Given the description of an element on the screen output the (x, y) to click on. 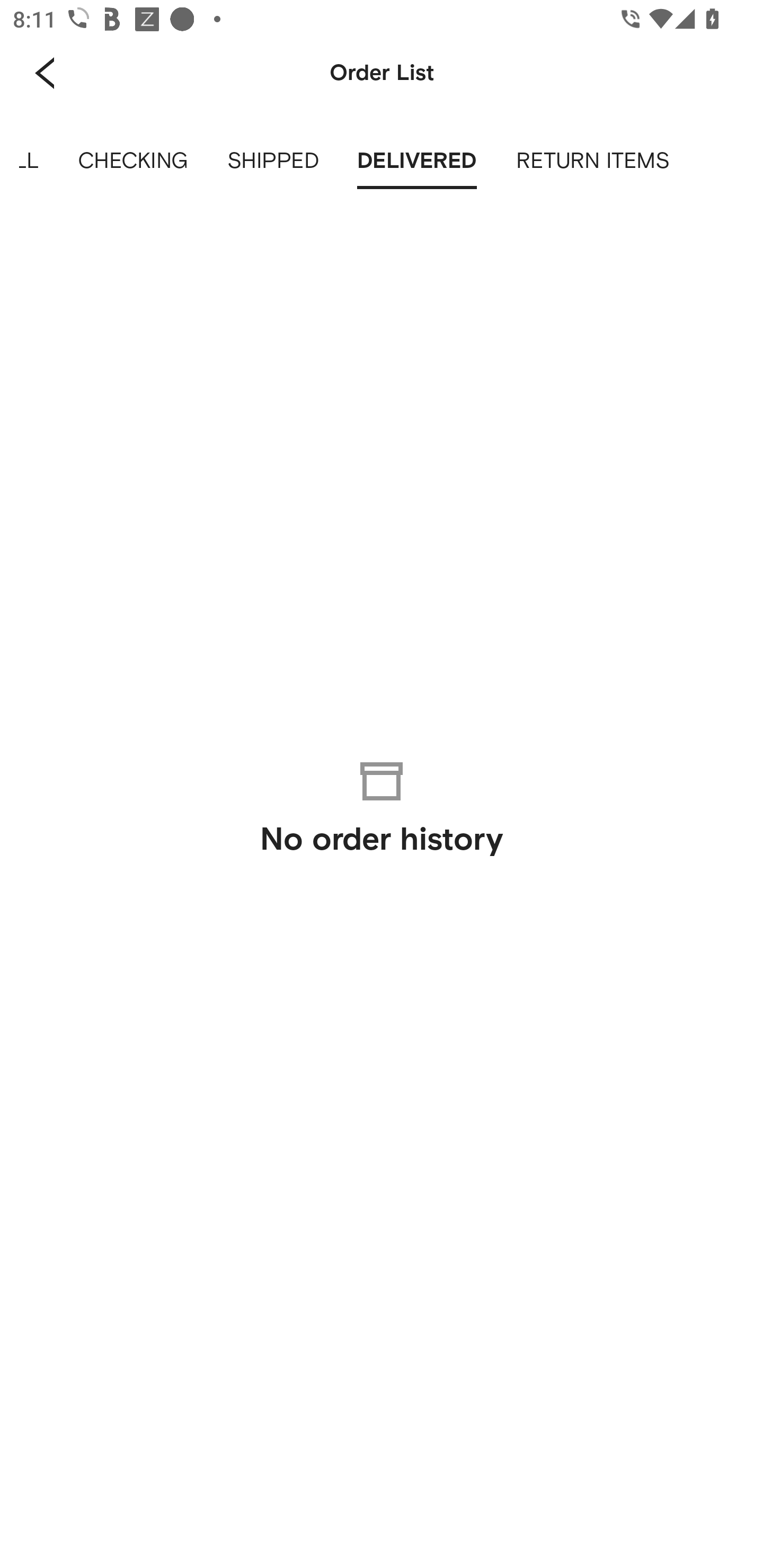
CHECKING (132, 161)
SHIPPED (272, 161)
RETURN ITEMS (592, 161)
